Given the description of an element on the screen output the (x, y) to click on. 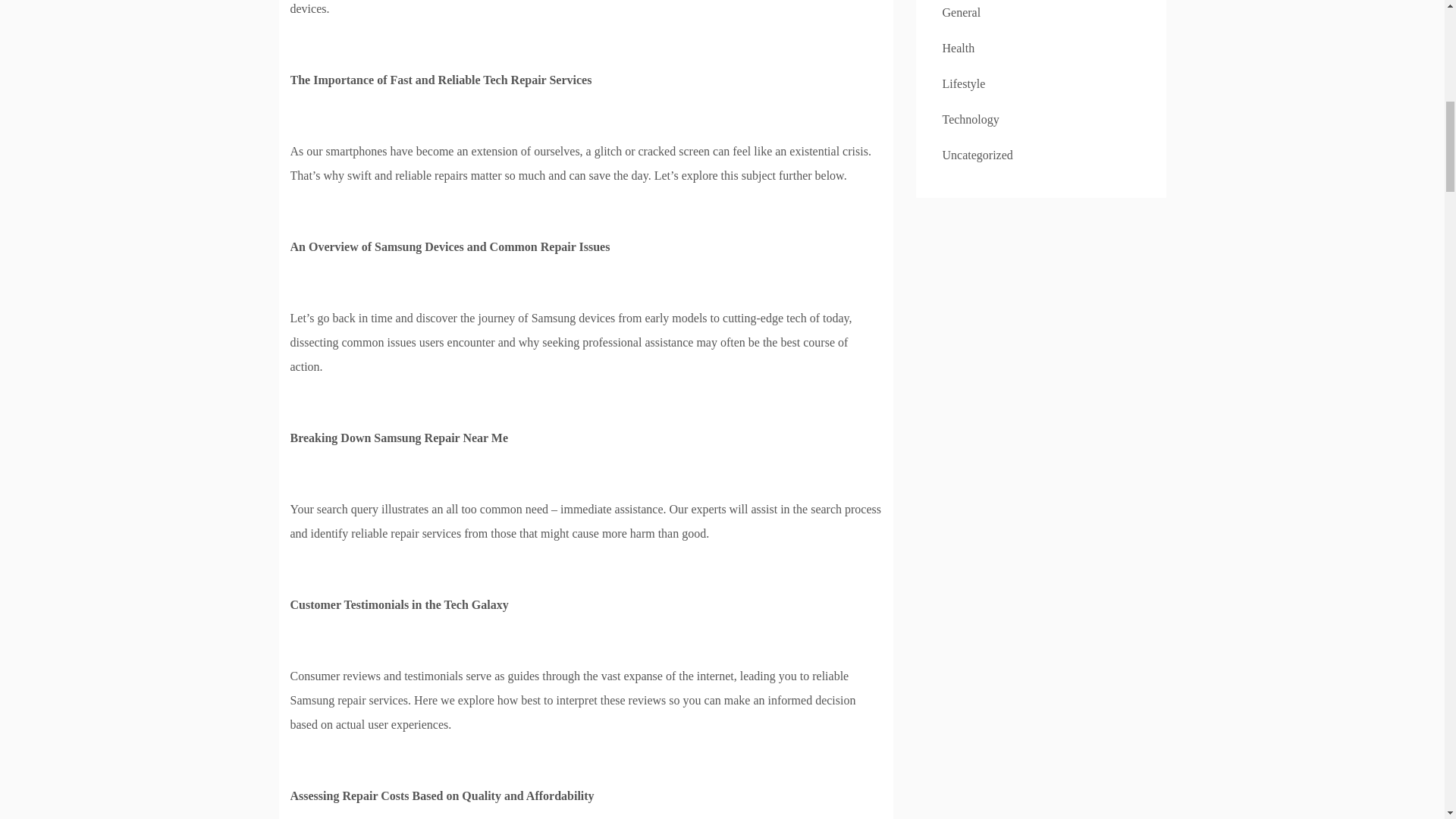
Lifestyle (963, 83)
Technology (970, 119)
General (960, 11)
Health (958, 47)
